Given the description of an element on the screen output the (x, y) to click on. 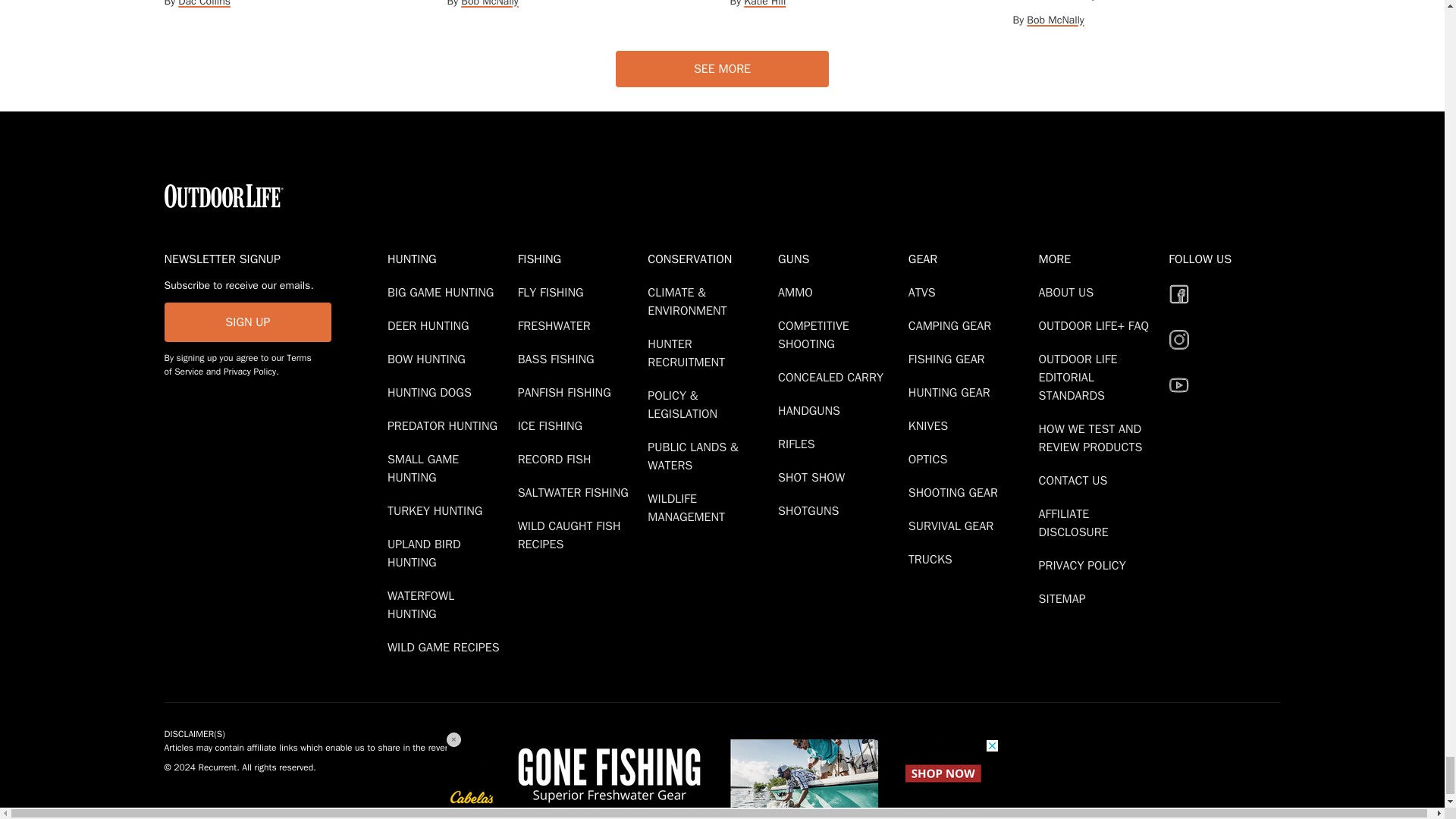
Hunting (449, 259)
Big Game Hunting (443, 292)
